Given the description of an element on the screen output the (x, y) to click on. 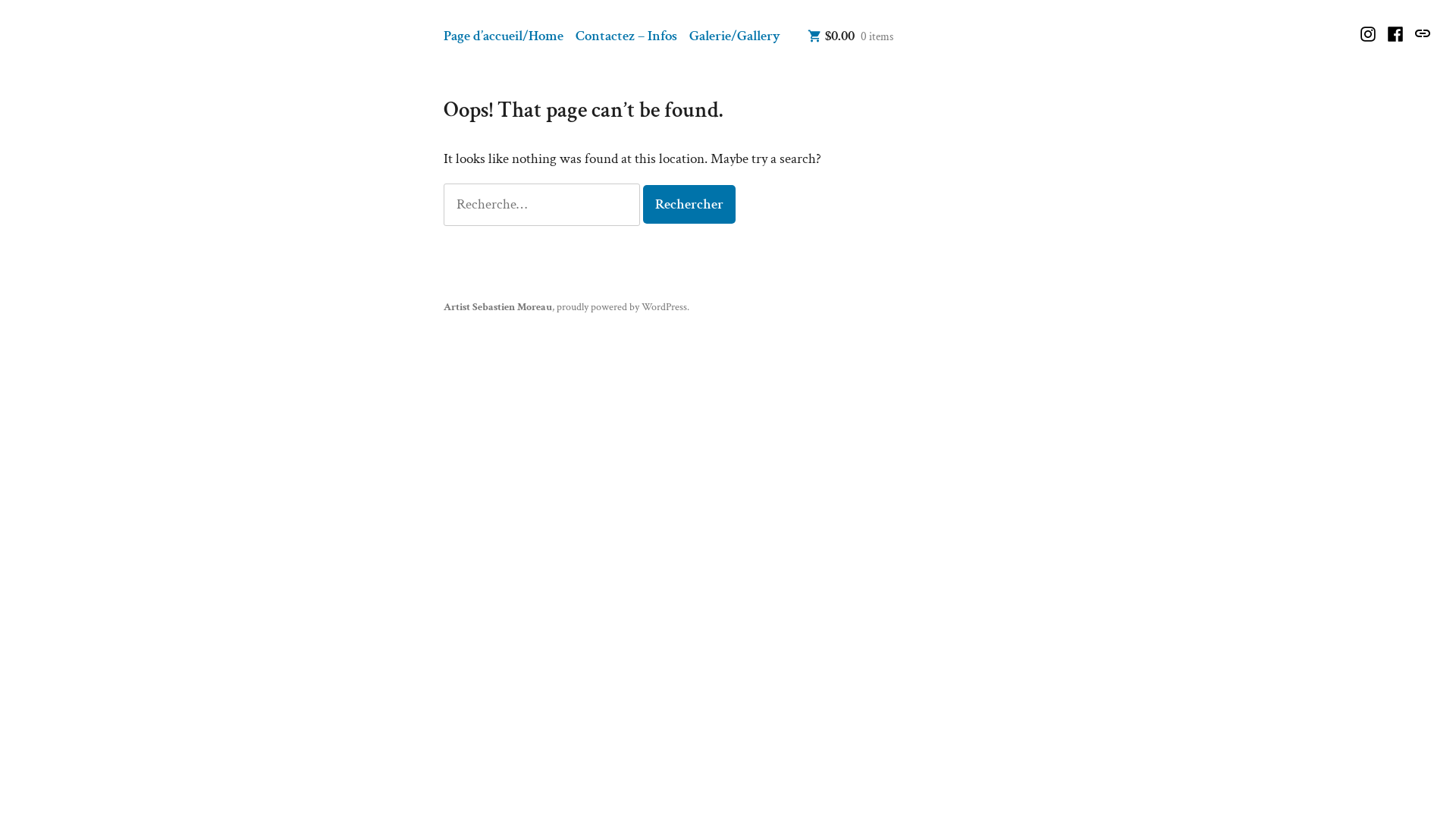
Rechercher Element type: text (689, 204)
YouTube Element type: text (1420, 33)
Artist Sebastien Moreau Element type: text (148, 85)
Instagram Element type: text (1369, 33)
FaceBook Element type: text (1395, 33)
Galerie/Gallery Element type: text (734, 35)
Artist Sebastien Moreau Element type: text (497, 306)
$0.00 0 items Element type: text (850, 36)
proudly powered by WordPress. Element type: text (622, 306)
